Given the description of an element on the screen output the (x, y) to click on. 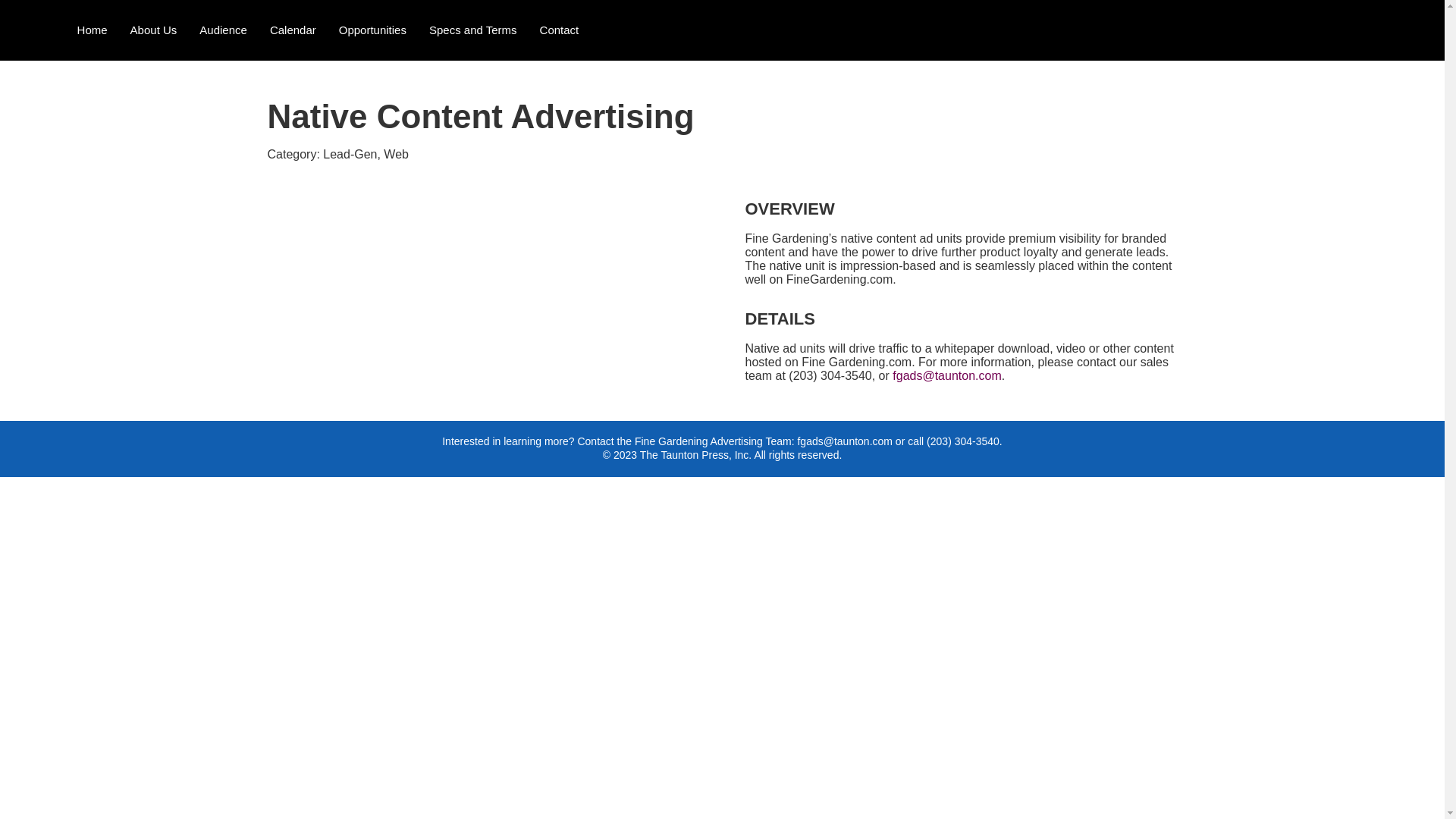
About Us (154, 30)
Calendar (293, 30)
Contact (559, 30)
Specs and Terms (472, 30)
Audience (223, 30)
Opportunities (372, 30)
